Given the description of an element on the screen output the (x, y) to click on. 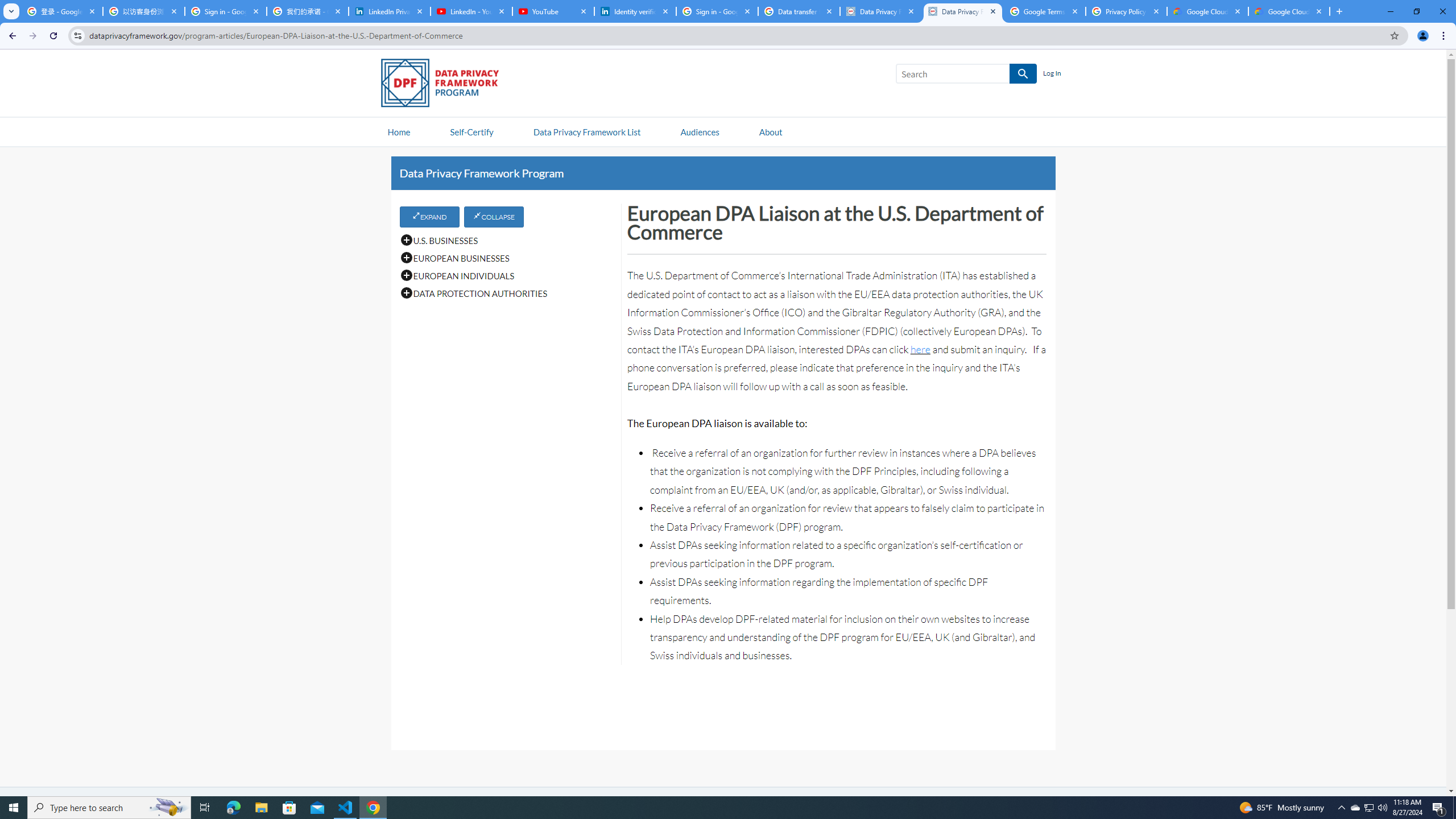
Data Privacy Framework (963, 11)
Home (398, 131)
AutomationID: navitem2 (769, 131)
